Given the description of an element on the screen output the (x, y) to click on. 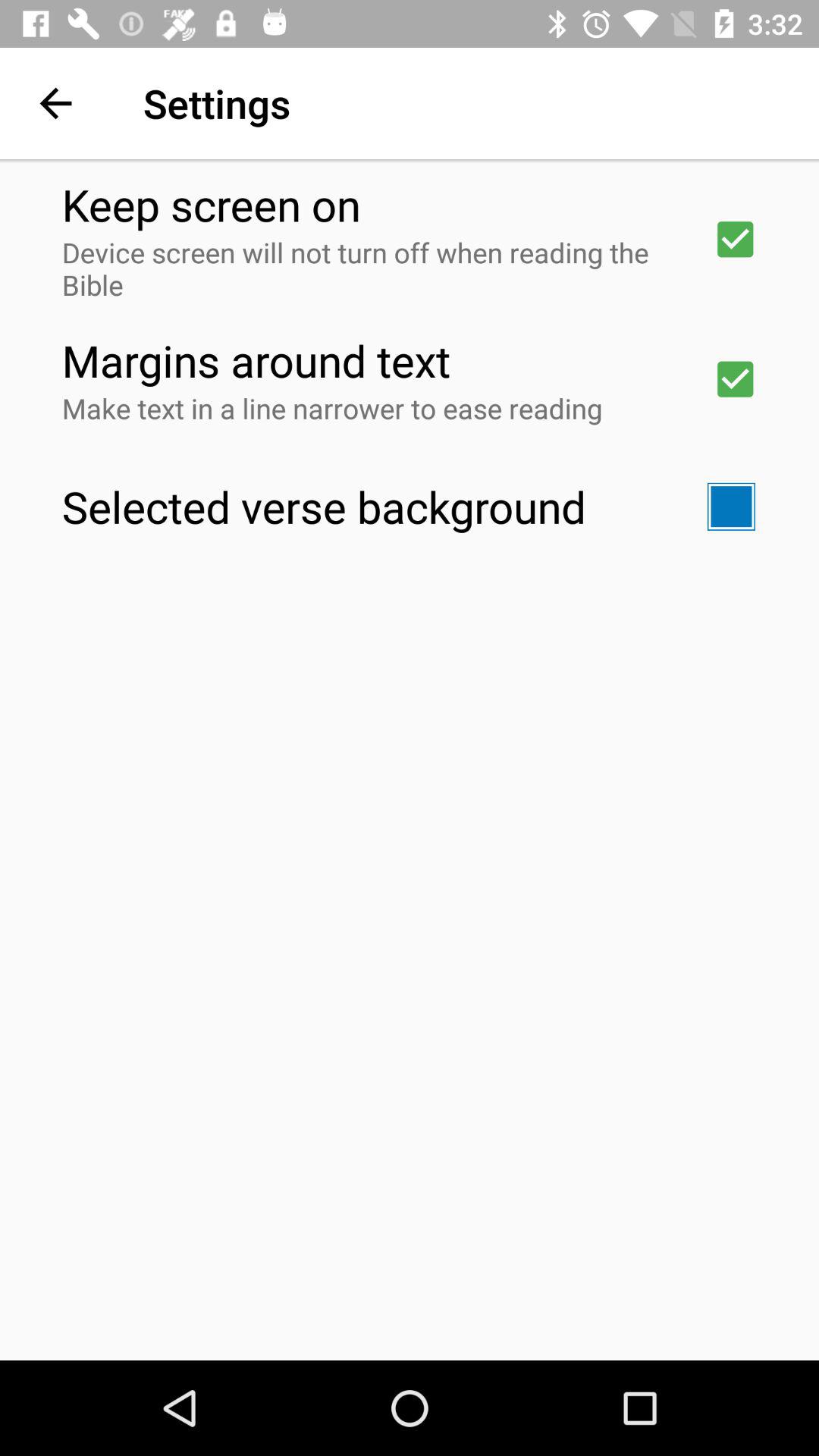
select the icon to the left of the settings (55, 103)
